Given the description of an element on the screen output the (x, y) to click on. 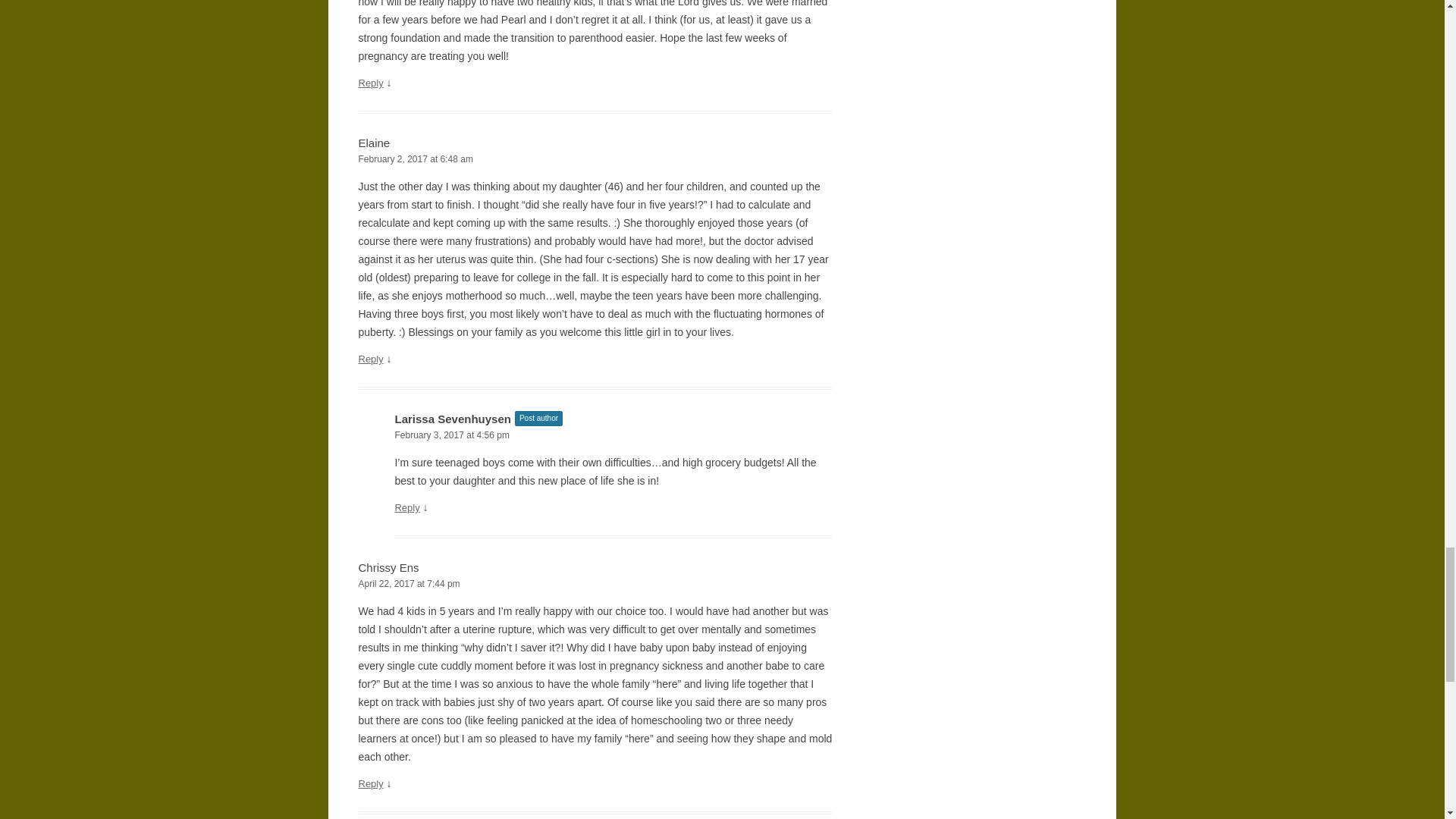
April 22, 2017 at 7:44 pm (594, 584)
Larissa Sevenhuysen (452, 418)
Reply (370, 358)
Reply (370, 783)
Reply (370, 82)
February 3, 2017 at 4:56 pm (612, 435)
February 2, 2017 at 6:48 am (594, 159)
Reply (406, 507)
